Given the description of an element on the screen output the (x, y) to click on. 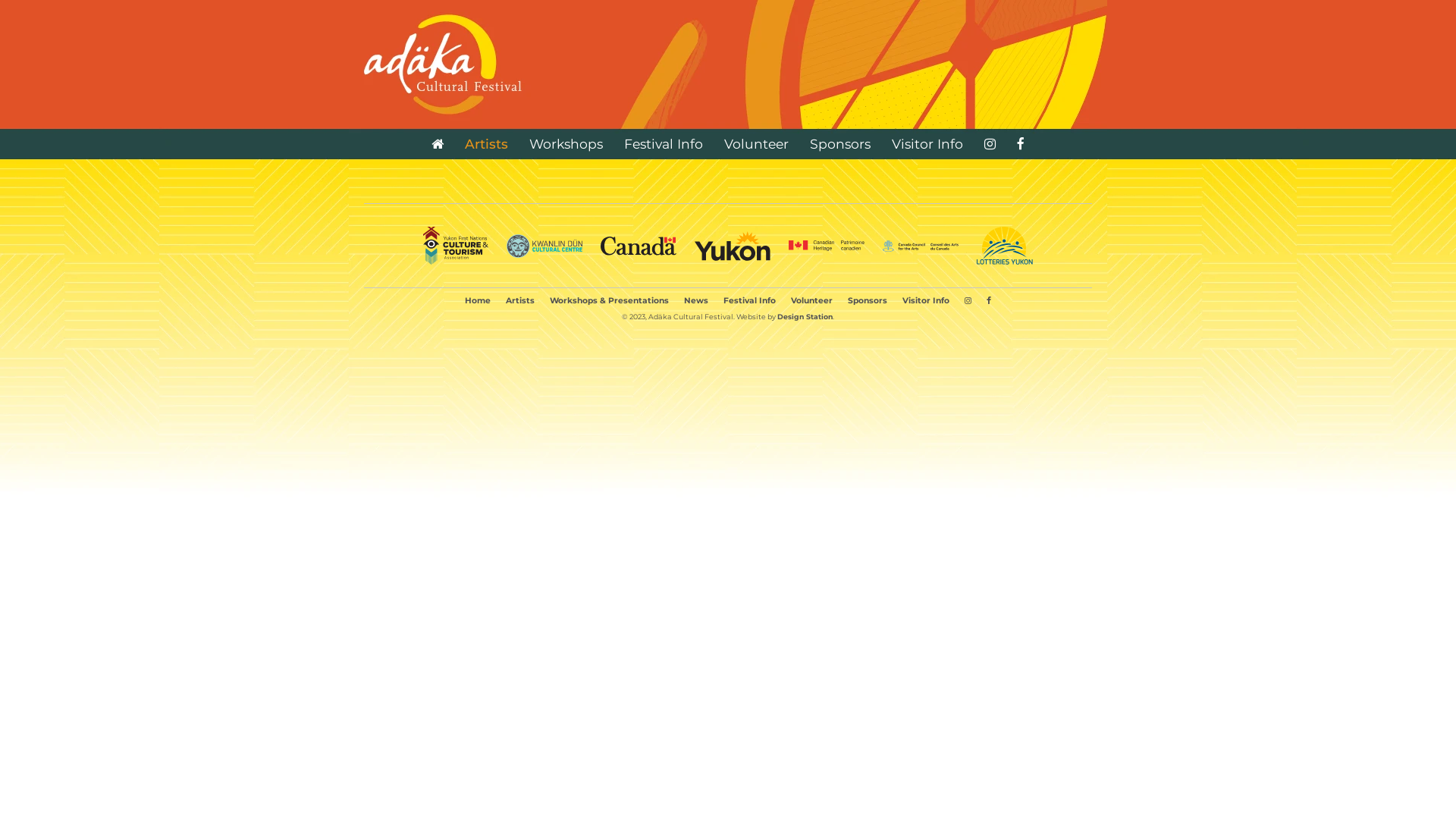
Artists Element type: text (486, 143)
Festival Info Element type: text (663, 143)
Visitor Info Element type: text (925, 300)
Workshops & Presentations Element type: text (608, 300)
Sponsors Element type: text (839, 143)
Visitor Info Element type: text (927, 143)
Volunteer Element type: text (811, 300)
Festival Info Element type: text (749, 300)
Artists Element type: text (519, 300)
Volunteer Element type: text (756, 143)
Design Station Element type: text (804, 316)
Home Element type: text (477, 300)
Sponsors Element type: text (867, 300)
Workshops Element type: text (565, 143)
News Element type: text (696, 300)
